Given the description of an element on the screen output the (x, y) to click on. 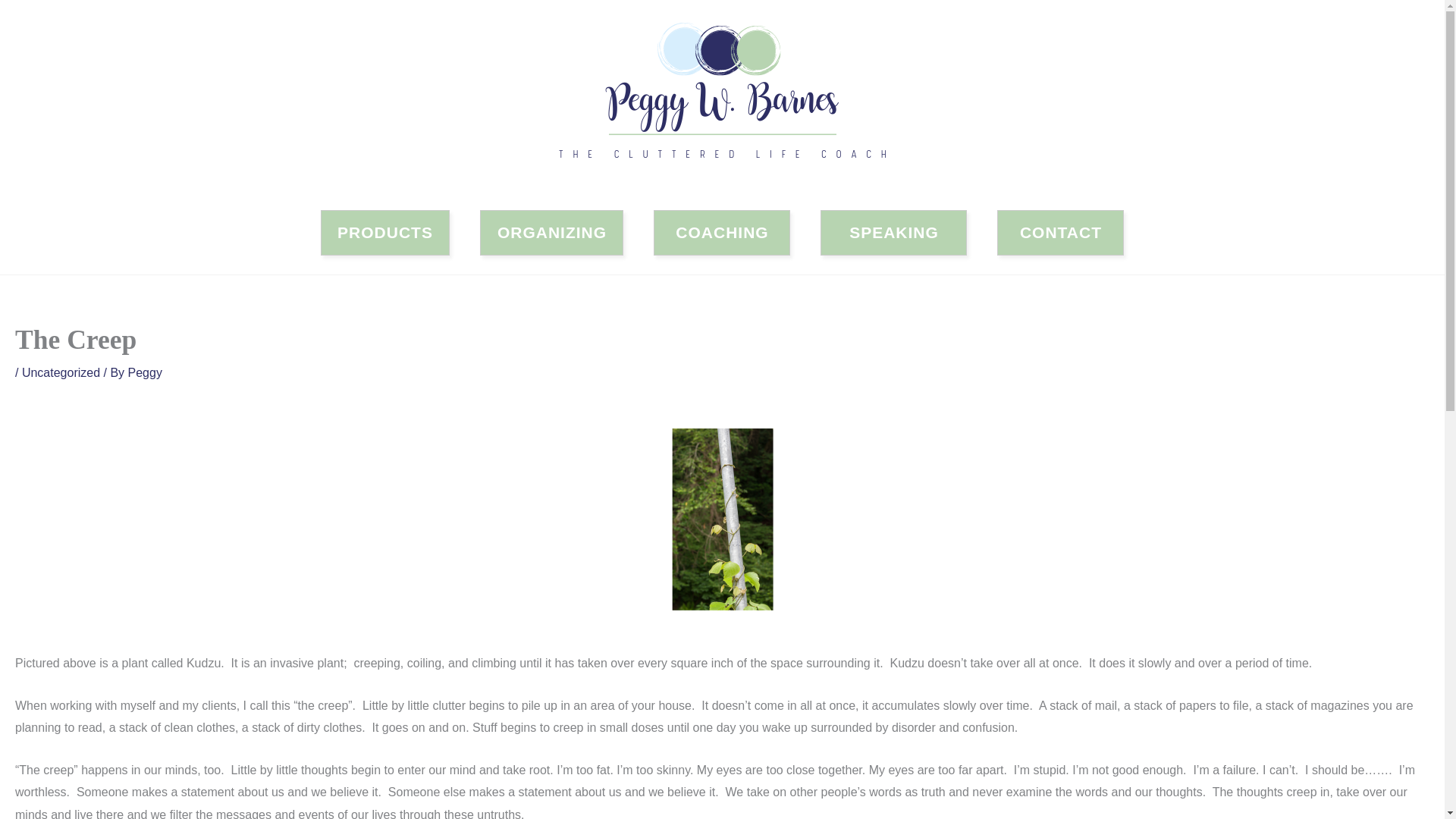
PRODUCTS (384, 232)
logonew (723, 95)
Uncategorized (60, 372)
View all posts by Peggy (144, 372)
CONTACT (1060, 232)
ORGANIZING (551, 232)
COACHING (721, 232)
Peggy (144, 372)
SPEAKING (893, 232)
